Given the description of an element on the screen output the (x, y) to click on. 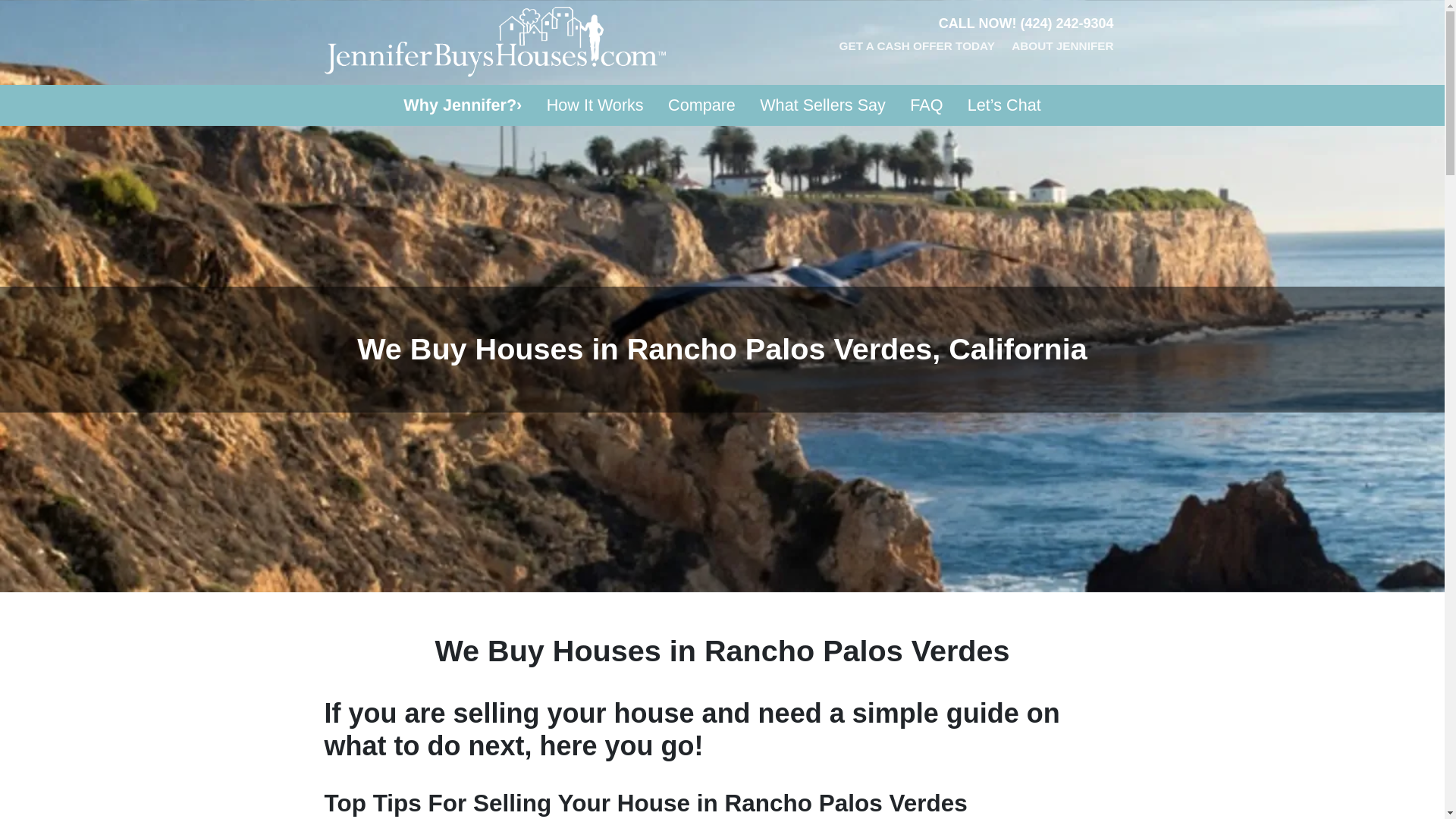
INSTAGRAM (1066, 75)
GET A CASH OFFER TODAY (916, 47)
Compare (702, 105)
What Sellers Say (823, 105)
ABOUT JENNIFER (1061, 47)
FACEBOOK (1000, 75)
What Sellers Say (823, 105)
How It Works (594, 105)
ZILLOW (1088, 75)
FAQ (926, 105)
TWITTER (978, 75)
LINKEDIN (1044, 75)
Compare (702, 105)
YOUTUBE (1022, 75)
How It Works (594, 105)
